Given the description of an element on the screen output the (x, y) to click on. 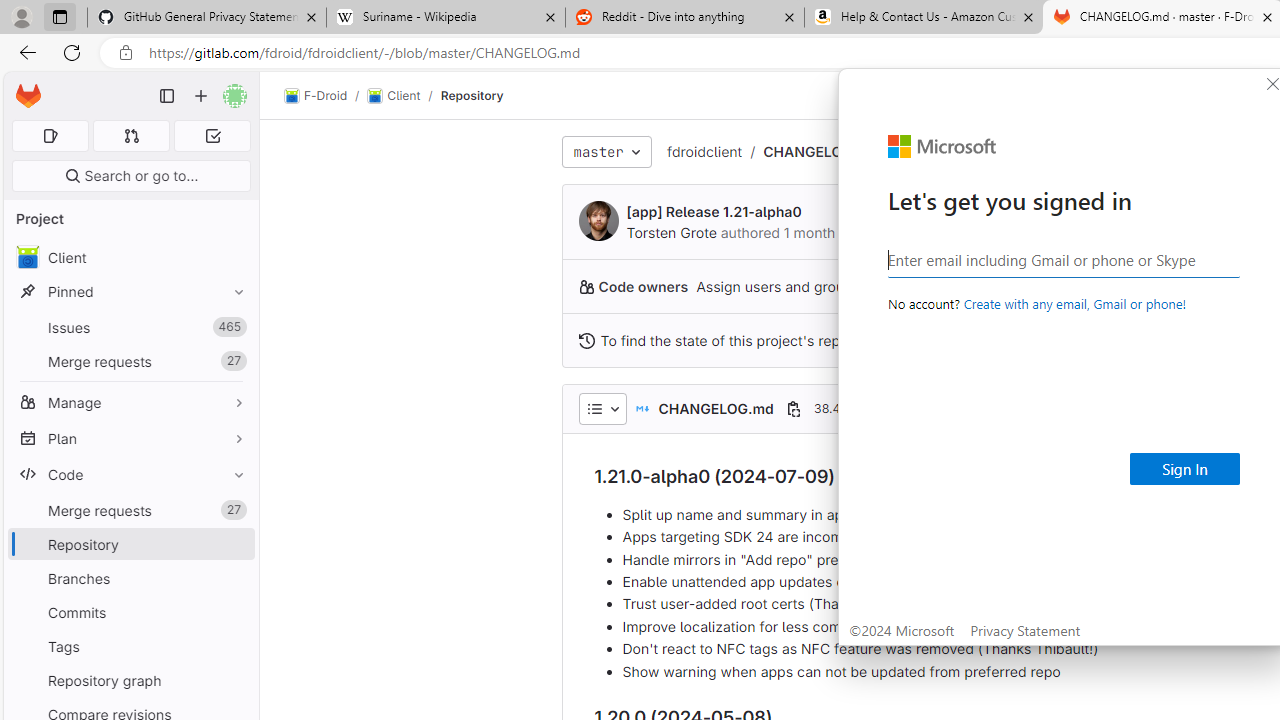
Pin Tags (234, 646)
Skip to main content (23, 87)
Merge requests27 (130, 510)
Code (130, 474)
Plan (130, 438)
Microsoft Icon (941, 147)
Branches (130, 578)
Assigned issues 0 (50, 136)
Unpin Issues (234, 327)
Privacy Statement (1025, 630)
Tags (130, 646)
AutomationID: dropdown-toggle-btn-50 (602, 408)
fdroidclient (703, 151)
